Given the description of an element on the screen output the (x, y) to click on. 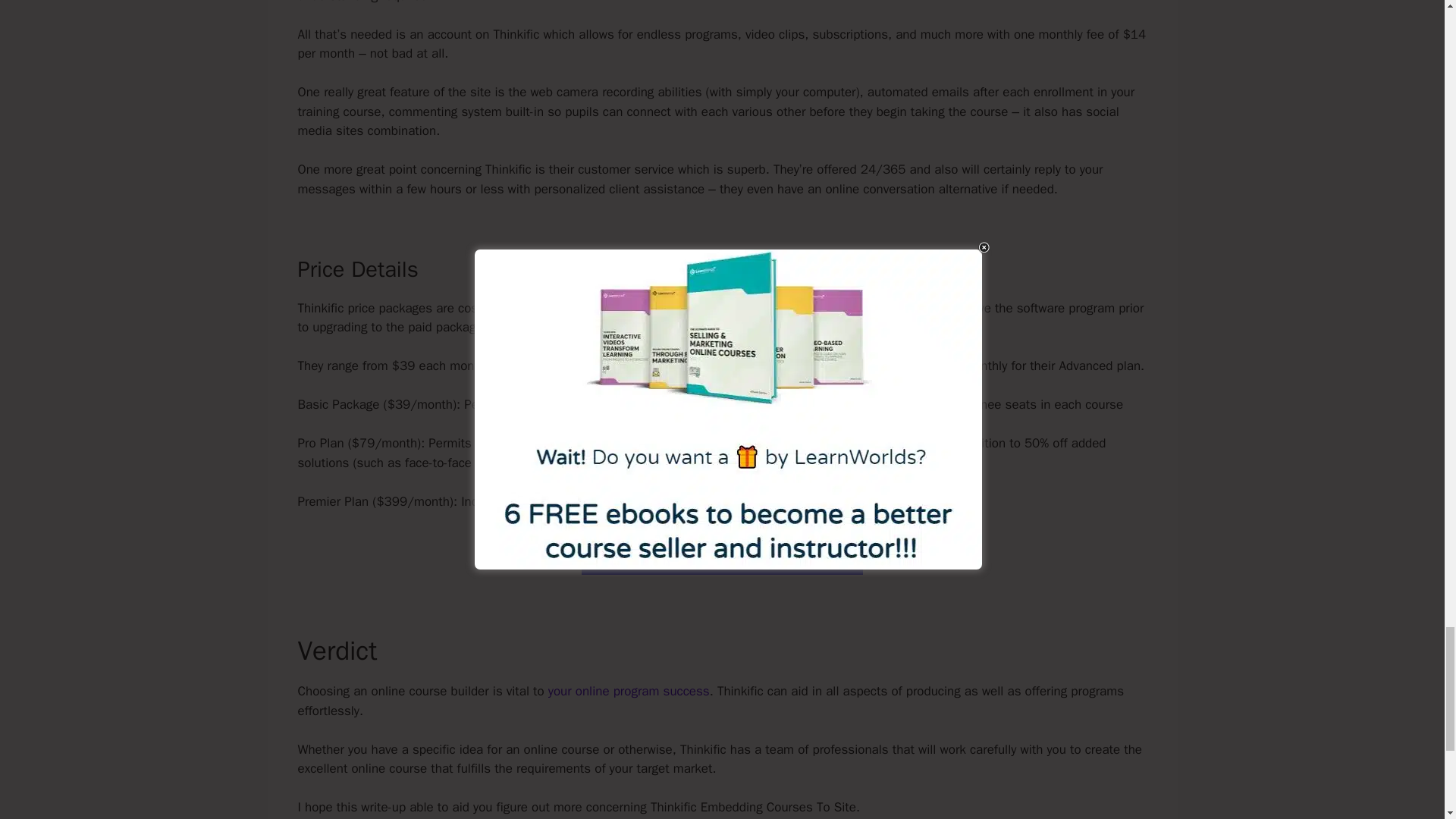
a totally free trial (624, 308)
your online program success (629, 691)
Visit Here For Detailed Pricing (721, 553)
